Given the description of an element on the screen output the (x, y) to click on. 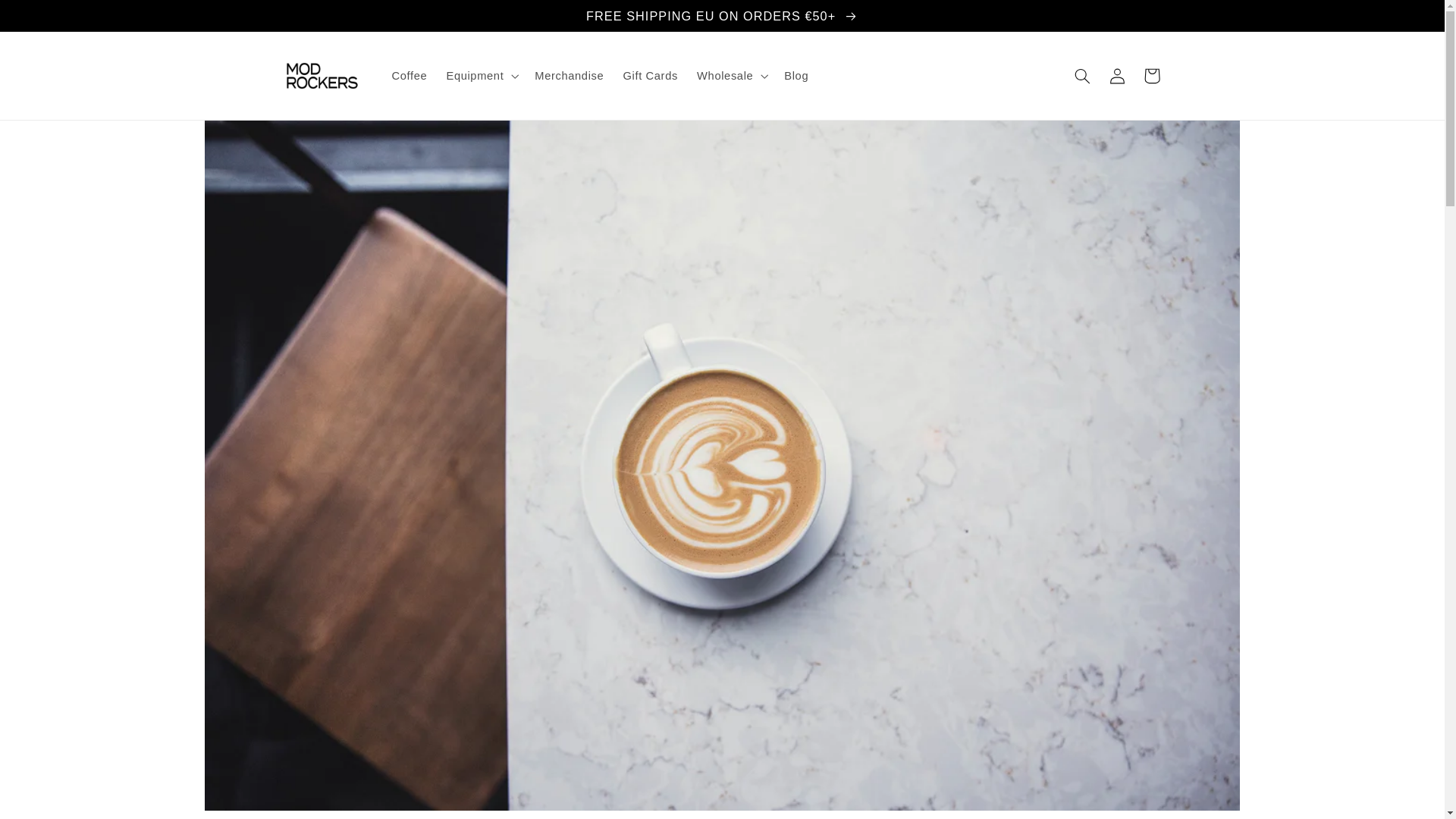
Blog (796, 75)
Cart (1151, 75)
Gift Cards (649, 75)
Coffee (408, 75)
Merchandise (568, 75)
Log in (1116, 75)
Skip to content (49, 19)
